Given the description of an element on the screen output the (x, y) to click on. 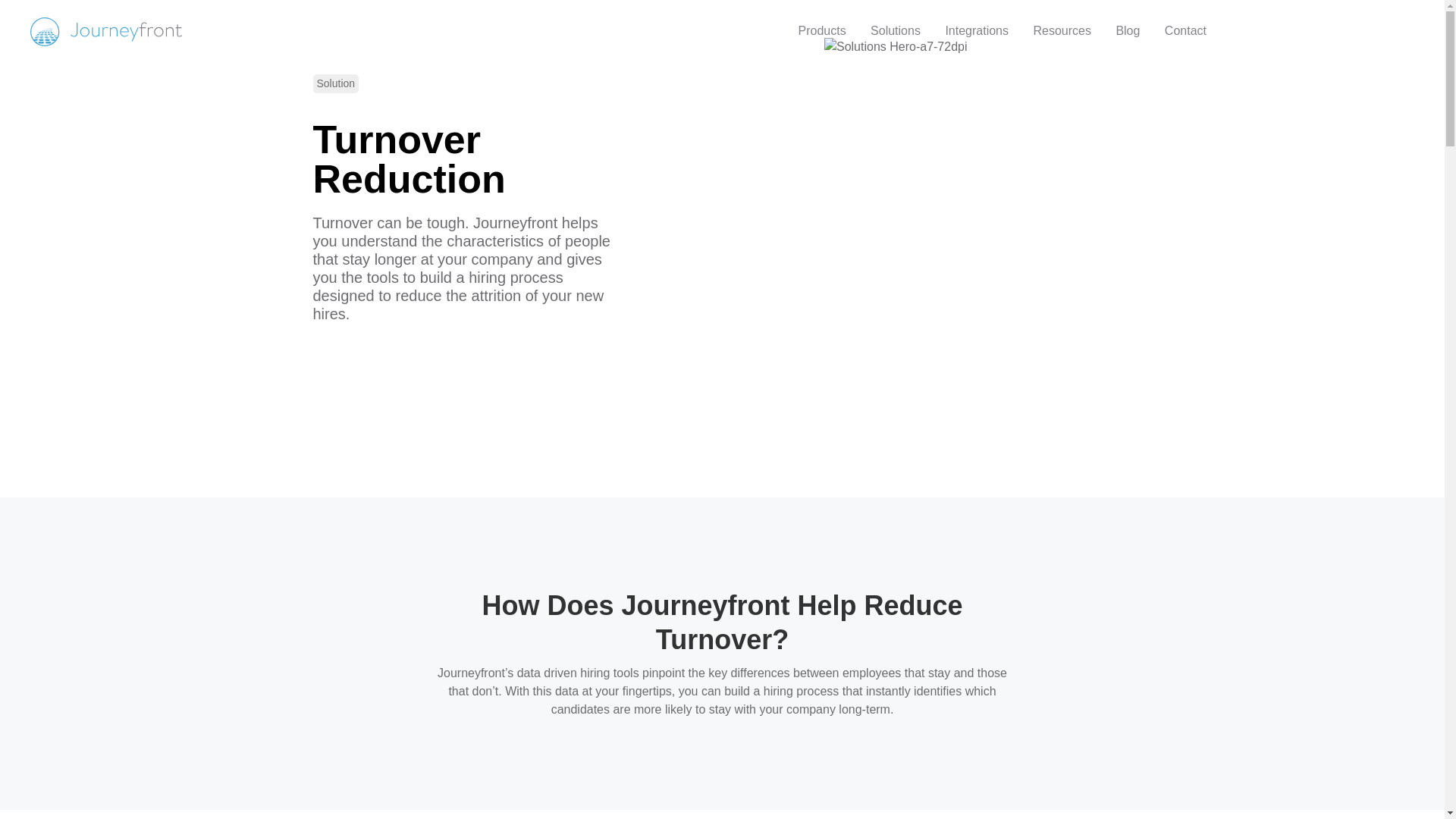
Blog (1127, 30)
Resources (1061, 30)
Products (821, 30)
Solutions (895, 30)
Integrations (976, 30)
Contact (1185, 30)
